Given the description of an element on the screen output the (x, y) to click on. 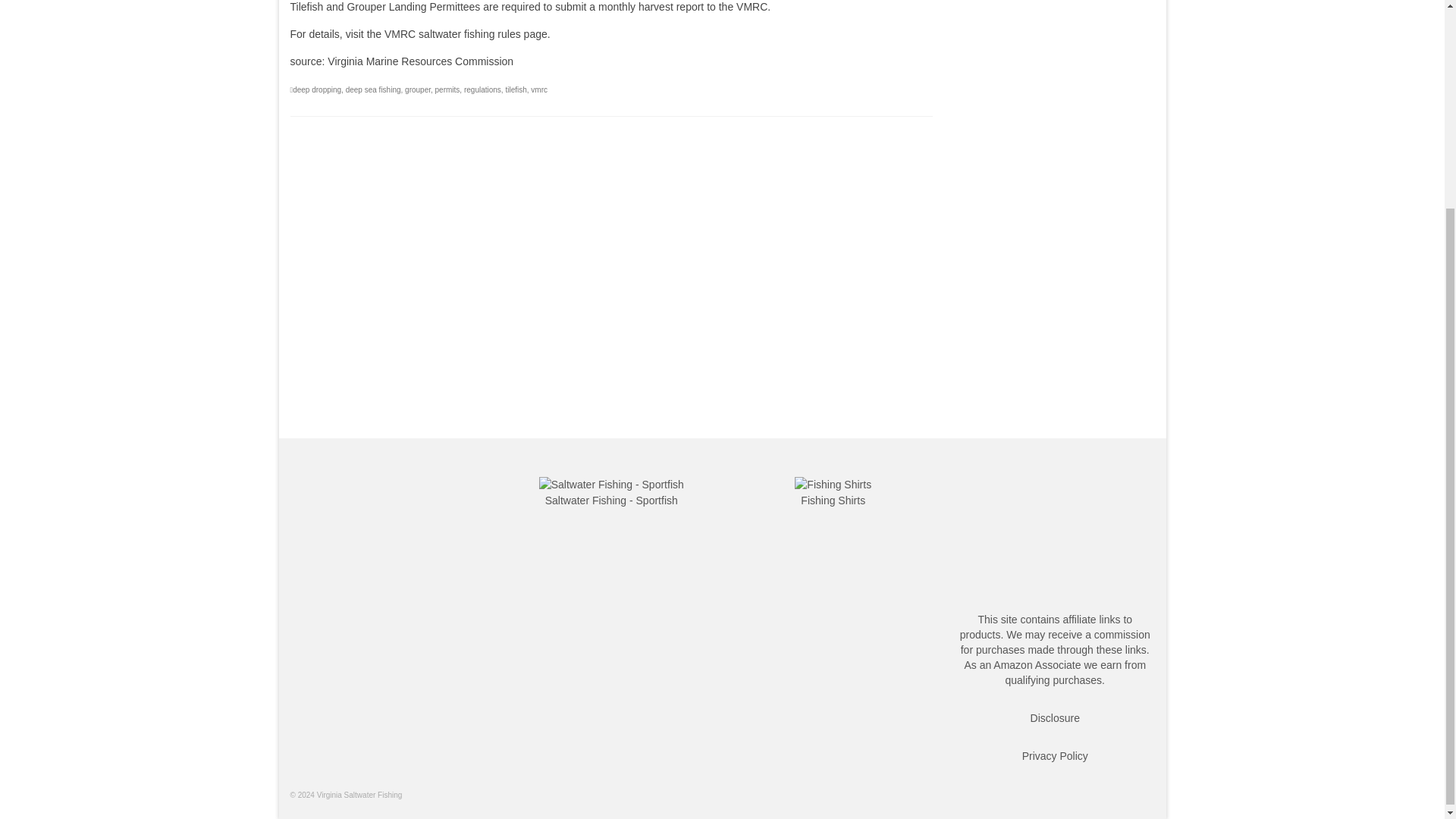
tilefish (515, 89)
deep sea fishing (373, 89)
regulations (482, 89)
vmrc (539, 89)
Privacy Policy (1054, 756)
Fishing Shirts (832, 500)
Saltwater Fishing - Sportfish (611, 500)
grouper (417, 89)
permits (447, 89)
deep dropping (316, 89)
